Given the description of an element on the screen output the (x, y) to click on. 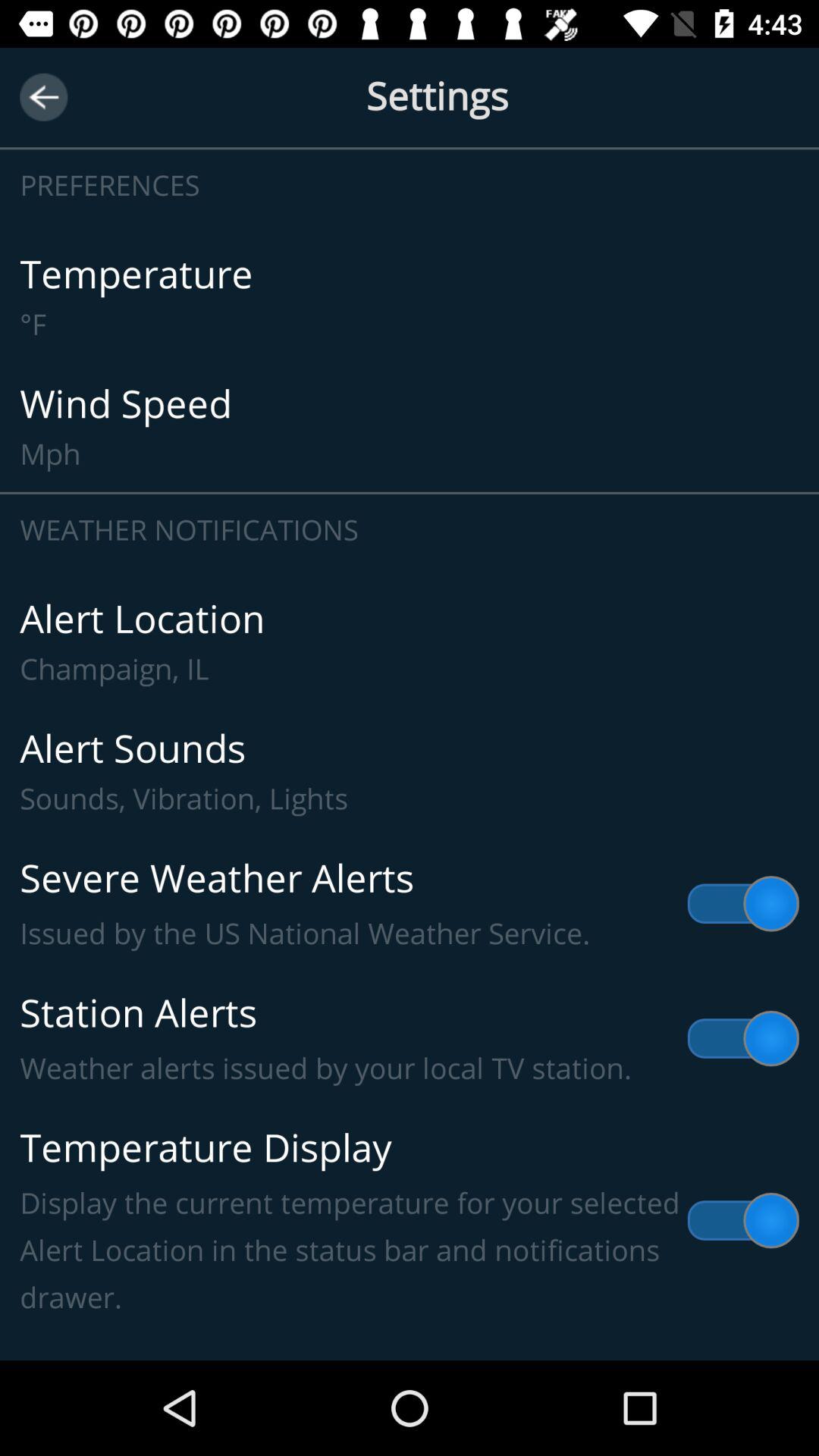
go back (43, 97)
